Given the description of an element on the screen output the (x, y) to click on. 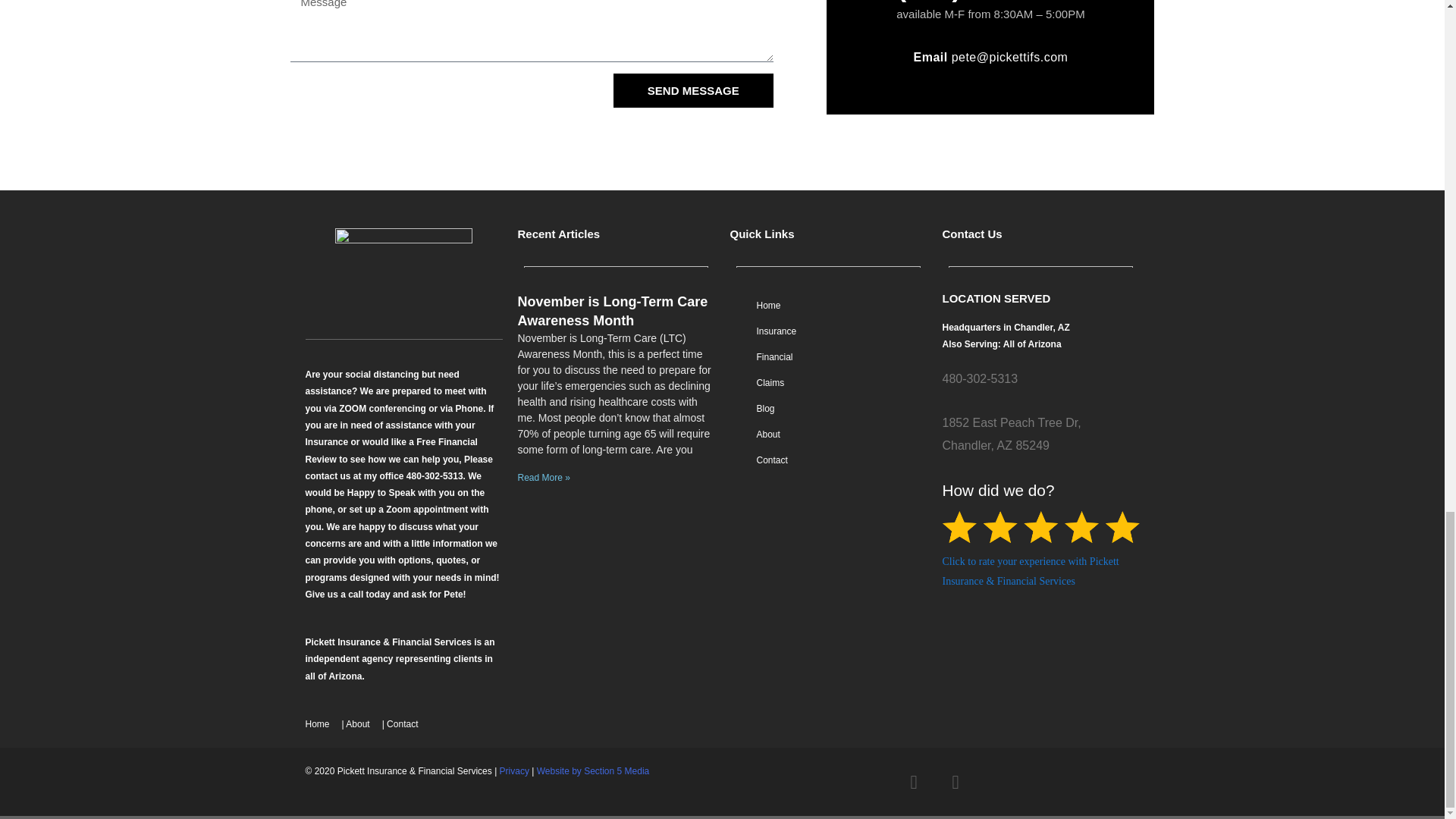
November is Long-Term Care Awareness Month (611, 311)
SEND MESSAGE (692, 90)
Home (316, 723)
